Given the description of an element on the screen output the (x, y) to click on. 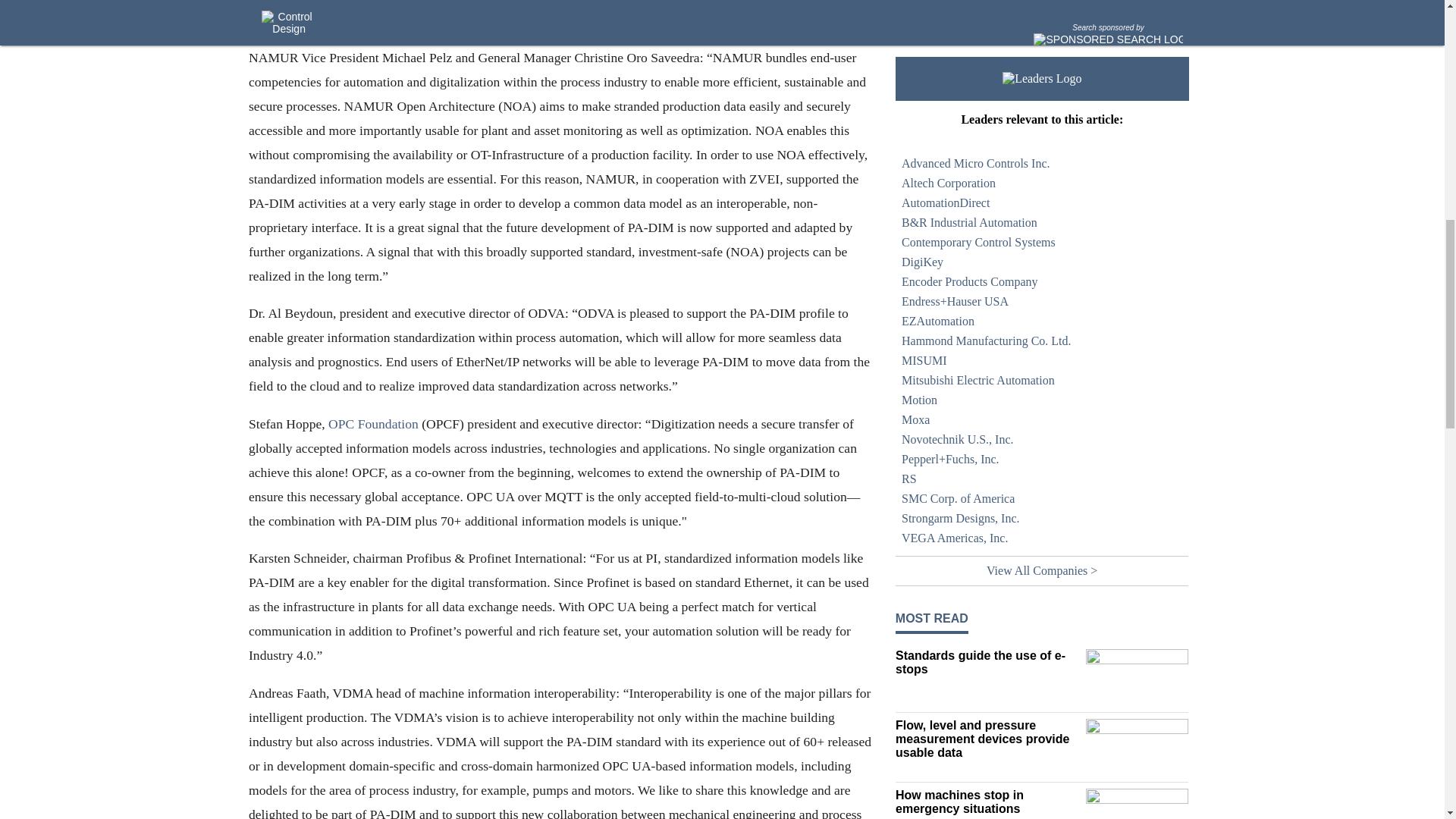
OPC Foundation (374, 423)
Advanced Micro Controls Inc. (1042, 163)
www.opcfoundation.org (374, 423)
